Given the description of an element on the screen output the (x, y) to click on. 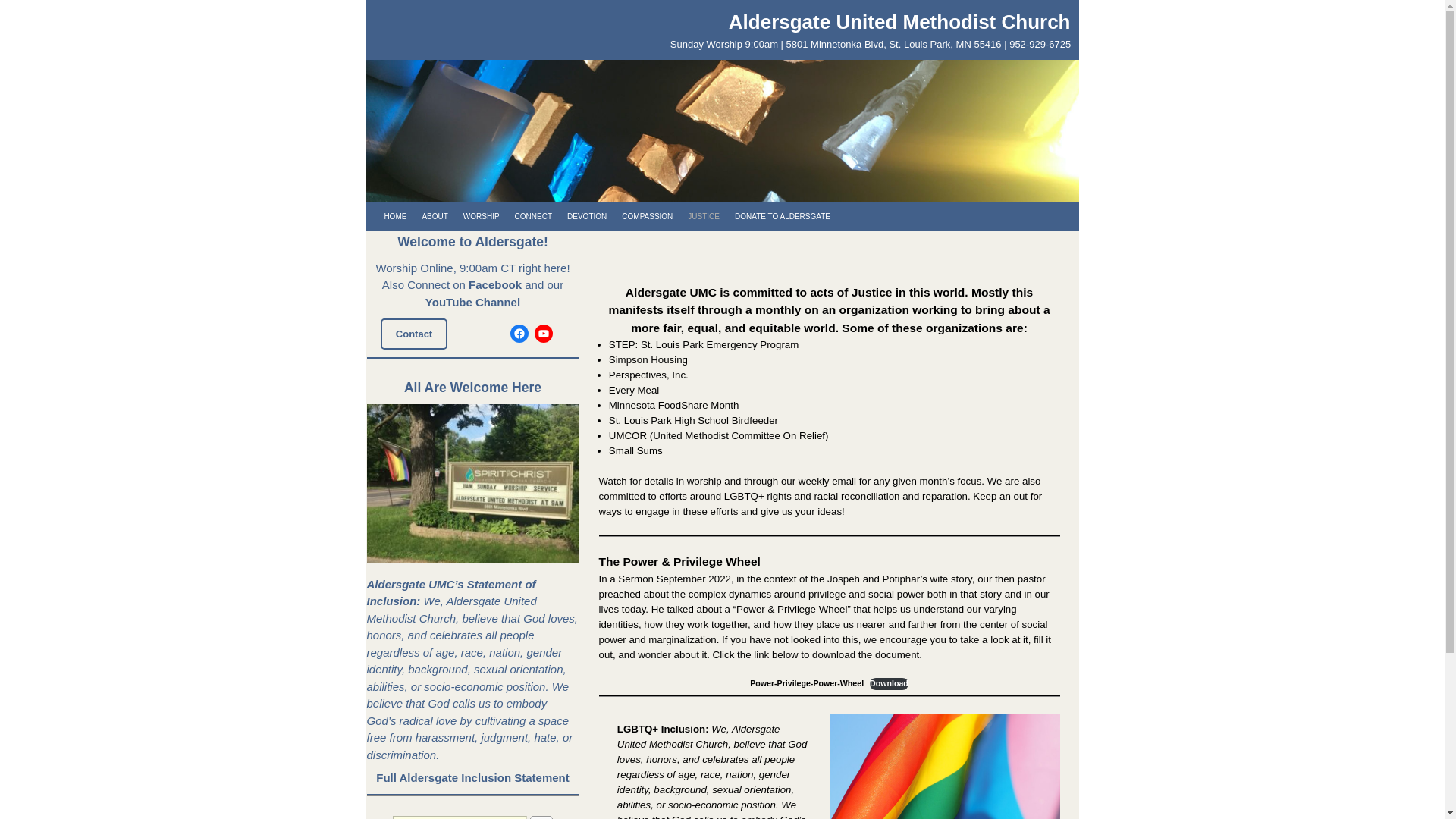
YouTube Channel (472, 301)
Aldersgate United Methodist Church (899, 21)
COMPASSION (646, 216)
Skip to primary content (427, 216)
All Are Welcome Here (472, 483)
CONNECT (532, 216)
DEVOTION (586, 216)
Download (888, 684)
ABOUT (433, 216)
Contact (413, 333)
